Given the description of an element on the screen output the (x, y) to click on. 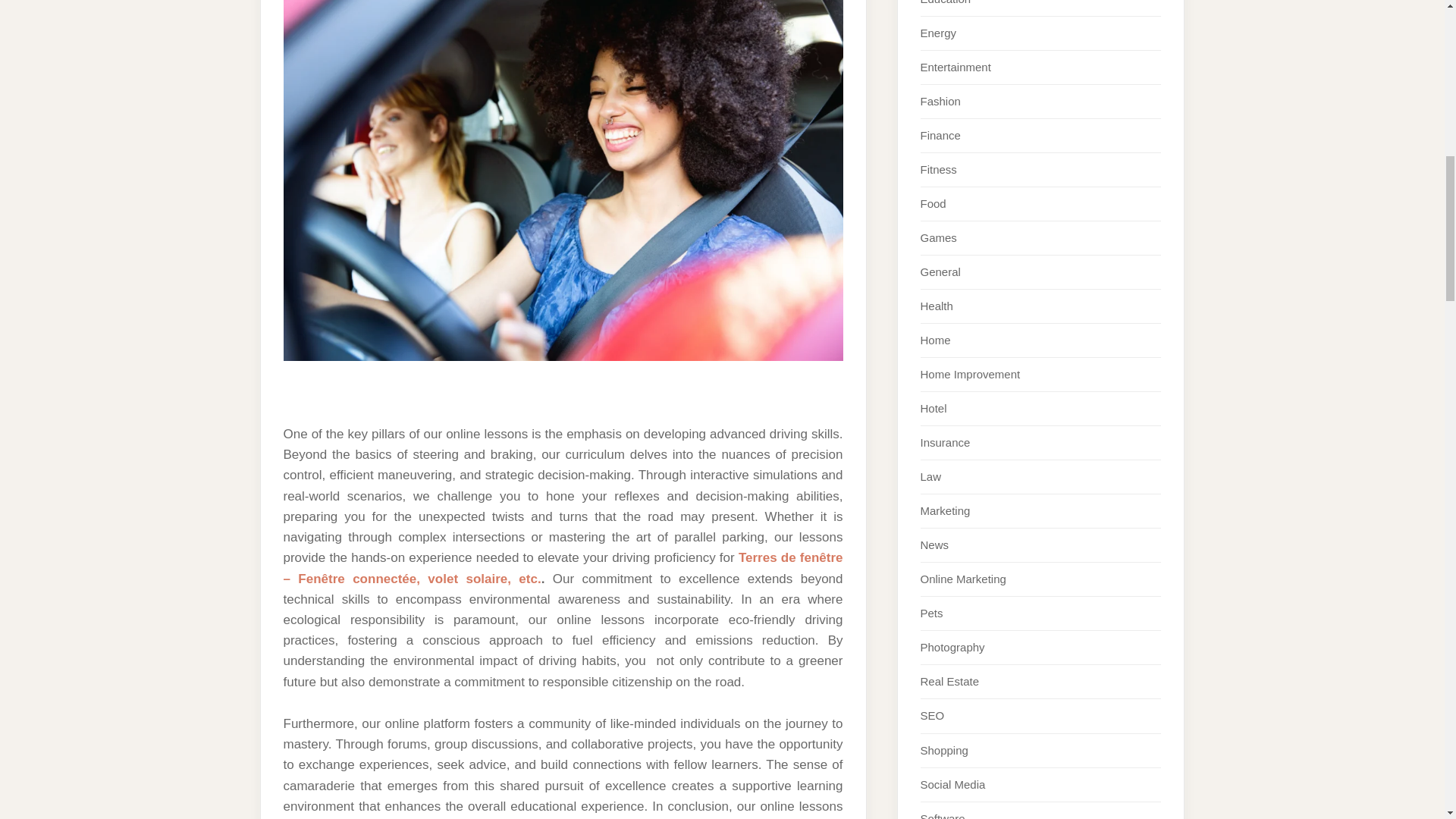
General (940, 271)
Fashion (940, 101)
Education (945, 2)
Finance (940, 134)
Home Improvement (970, 373)
Fitness (938, 169)
Games (938, 237)
Energy (938, 32)
Food (933, 203)
Home (935, 339)
Entertainment (955, 66)
Health (936, 305)
